Given the description of an element on the screen output the (x, y) to click on. 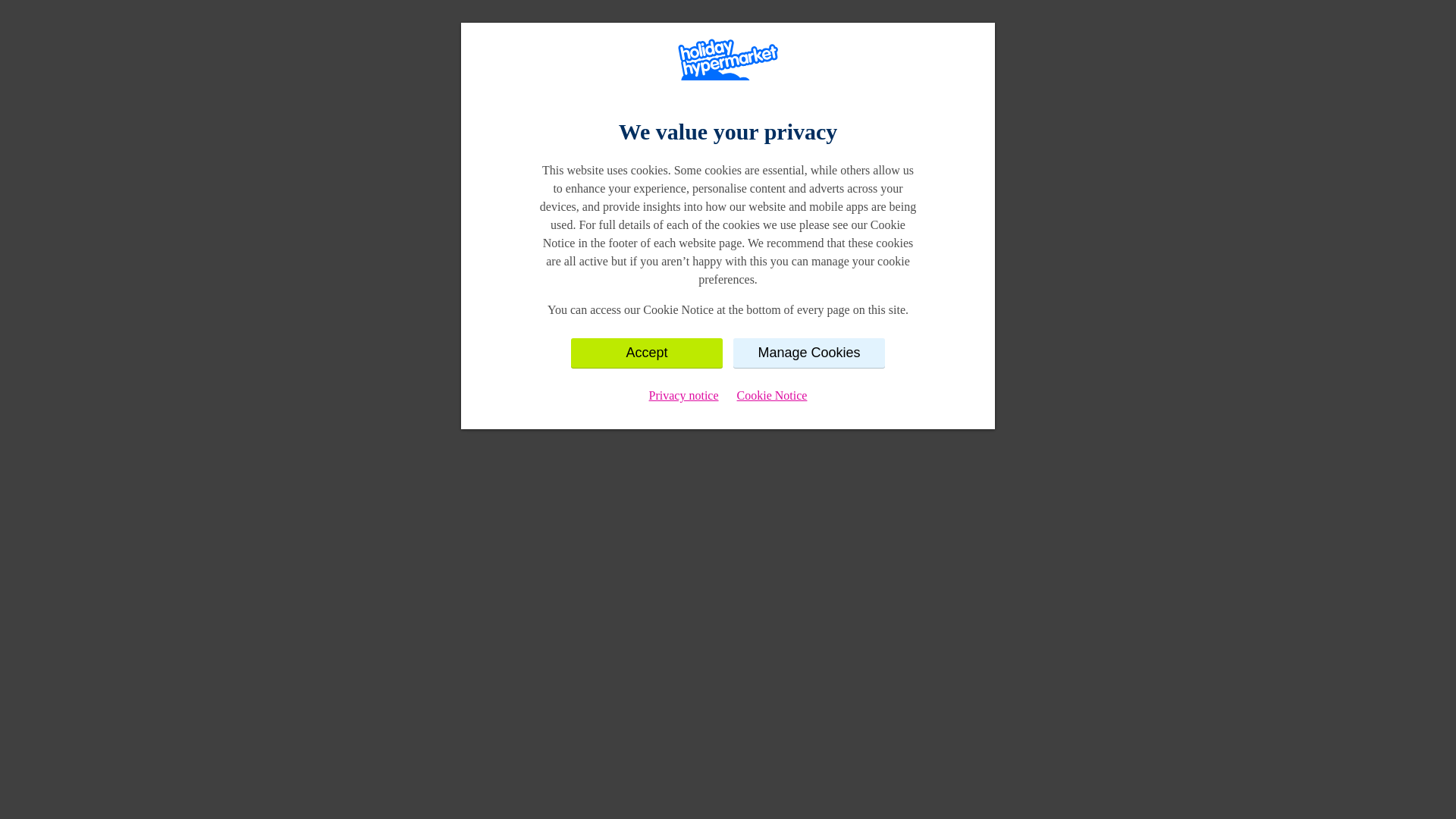
Go To Homepage (727, 259)
